Given the description of an element on the screen output the (x, y) to click on. 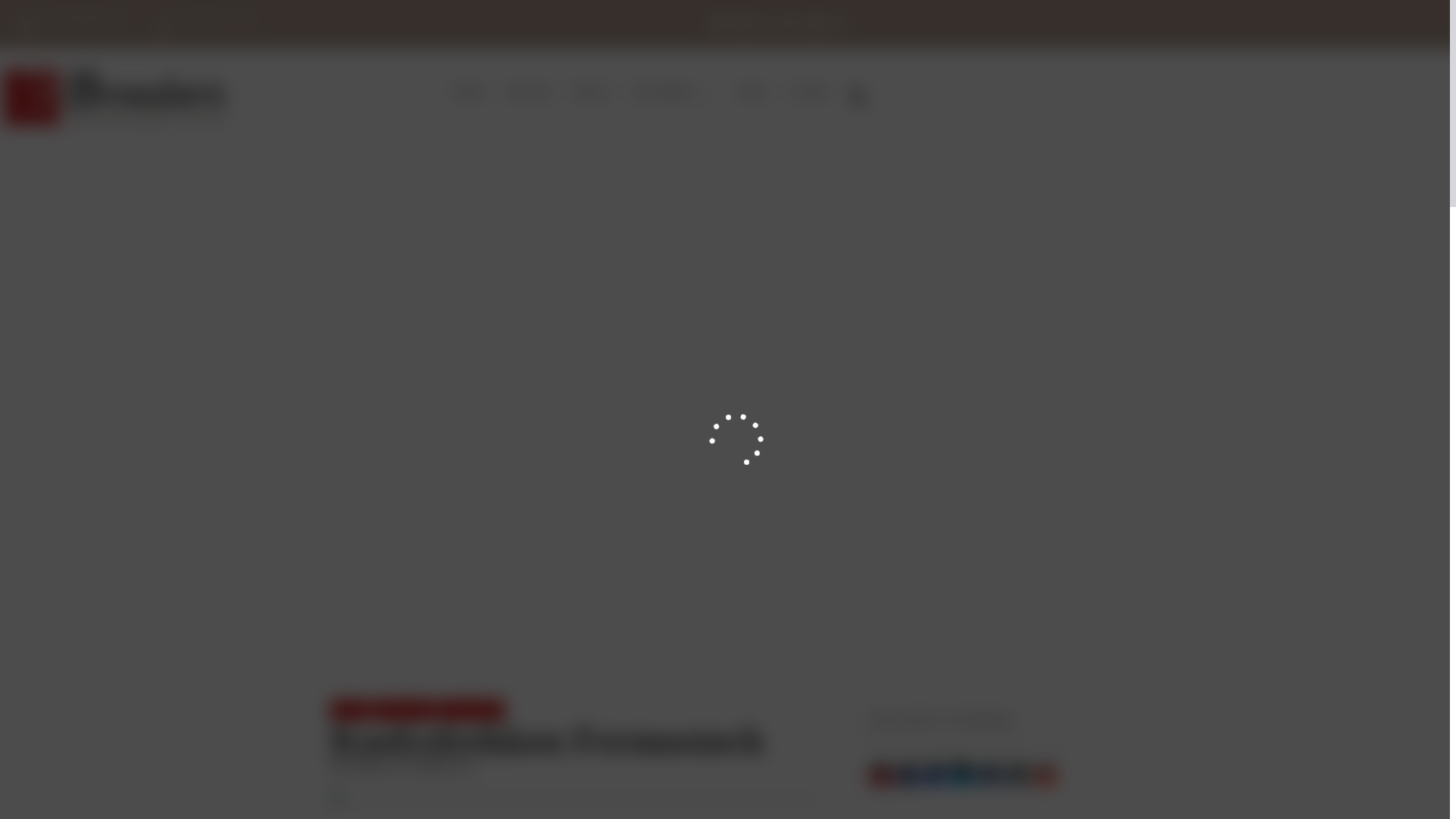
INRICHTING Element type: text (403, 709)
ONS AANBOD Element type: text (471, 709)
Google Bookmark Element type: text (935, 777)
Nieuws Element type: text (591, 91)
Ons aanbod Element type: text (673, 97)
+32(0)11 27 34 91 Element type: text (206, 24)
Facebook Element type: text (908, 777)
Over ons Element type: text (528, 91)
Print Element type: text (1017, 777)
Home Element type: text (468, 91)
Skype Element type: text (962, 777)
Contact Element type: text (809, 91)
AddThis Element type: text (1044, 777)
broeders@skynet.be Element type: text (72, 24)
100zakladok Element type: text (990, 777)
HOME Element type: text (349, 709)
Pinterest Element type: text (881, 777)
Acties Element type: text (751, 91)
